Given the description of an element on the screen output the (x, y) to click on. 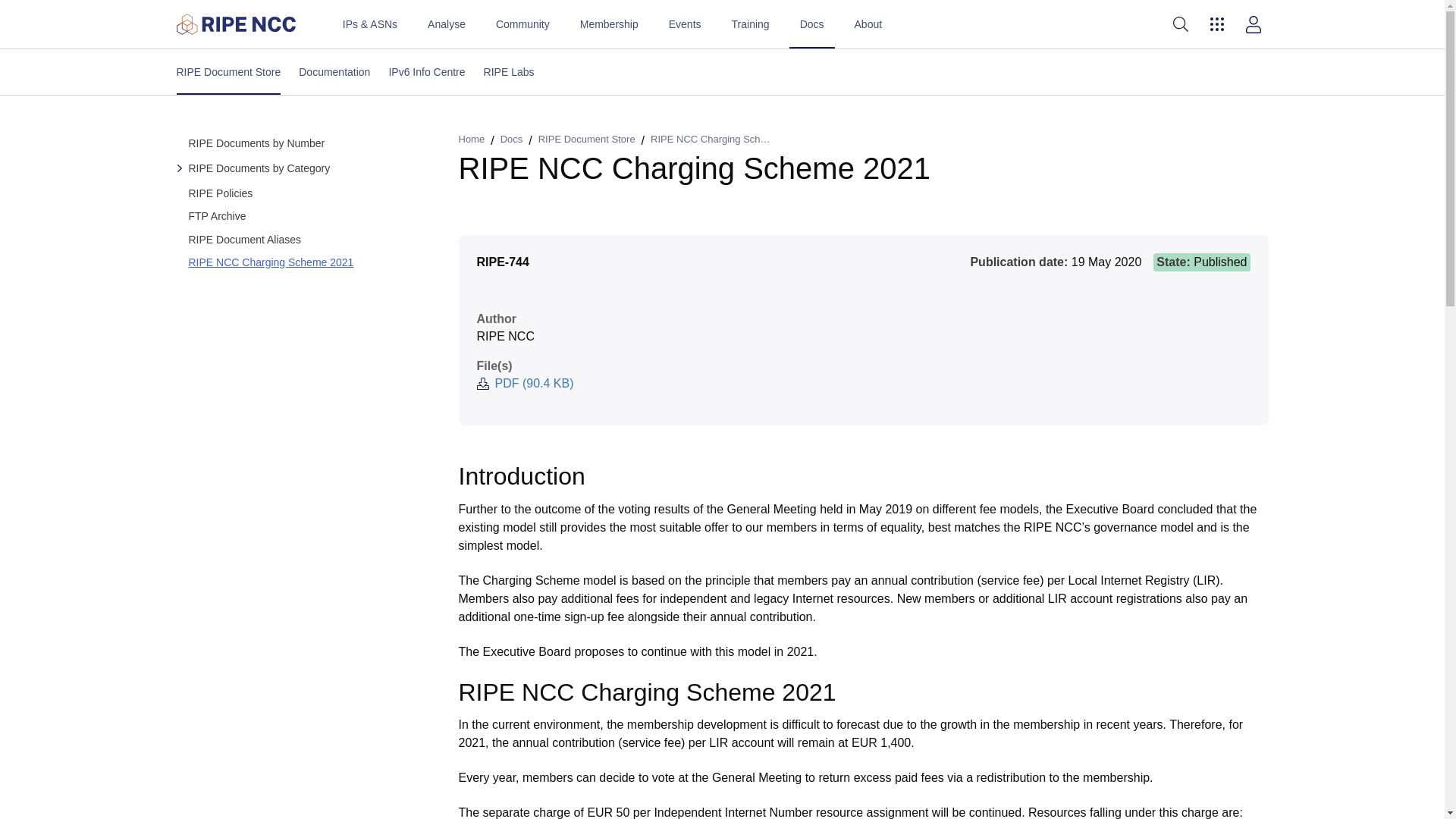
Analyse (722, 72)
Go to homepage (446, 24)
